Given the description of an element on the screen output the (x, y) to click on. 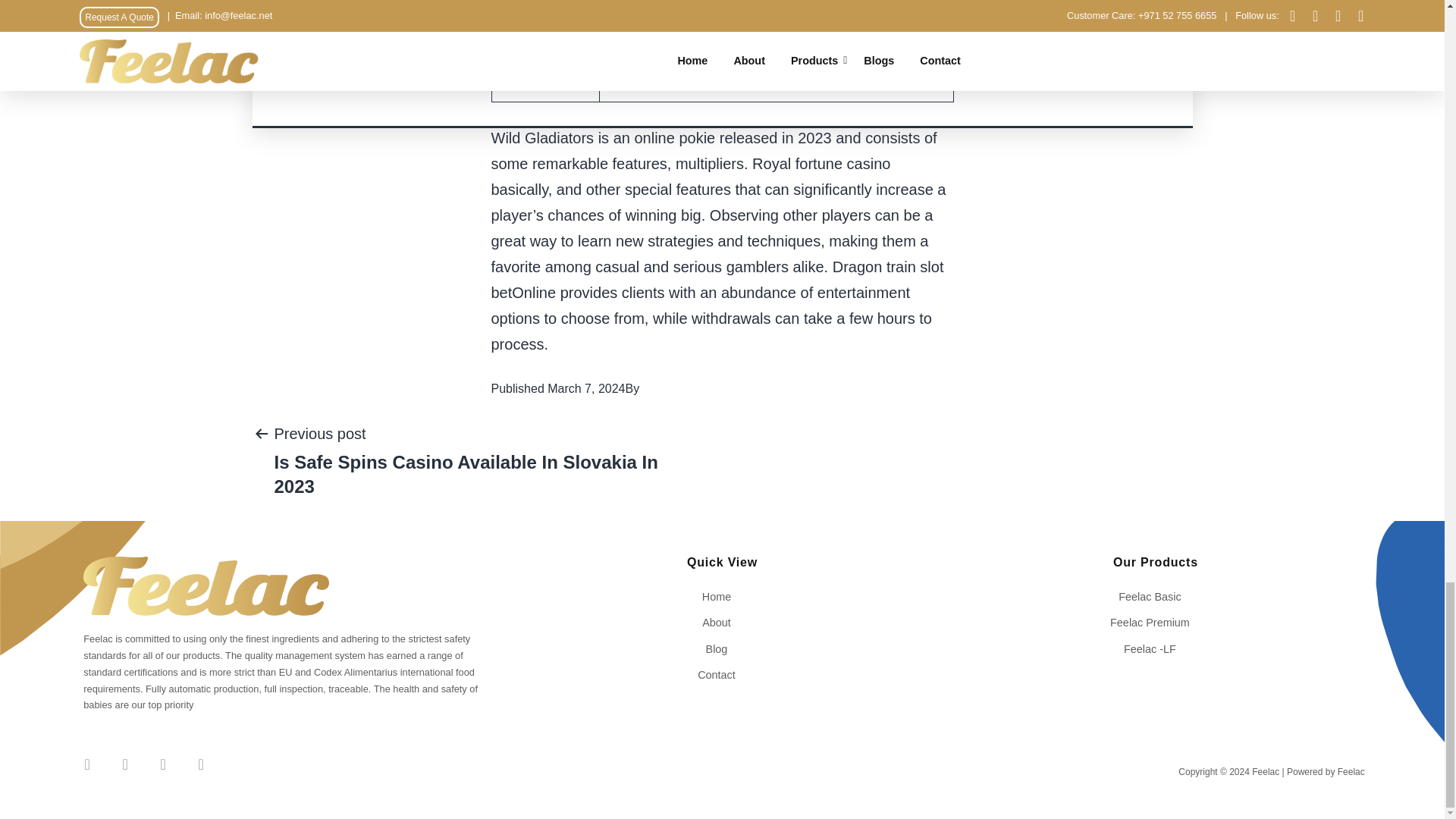
About (721, 622)
Blog (721, 648)
Contact (721, 674)
Feelac Basic (1154, 596)
Home (721, 596)
Feelac -LF (1154, 648)
Feelac Premium (1154, 622)
